Given the description of an element on the screen output the (x, y) to click on. 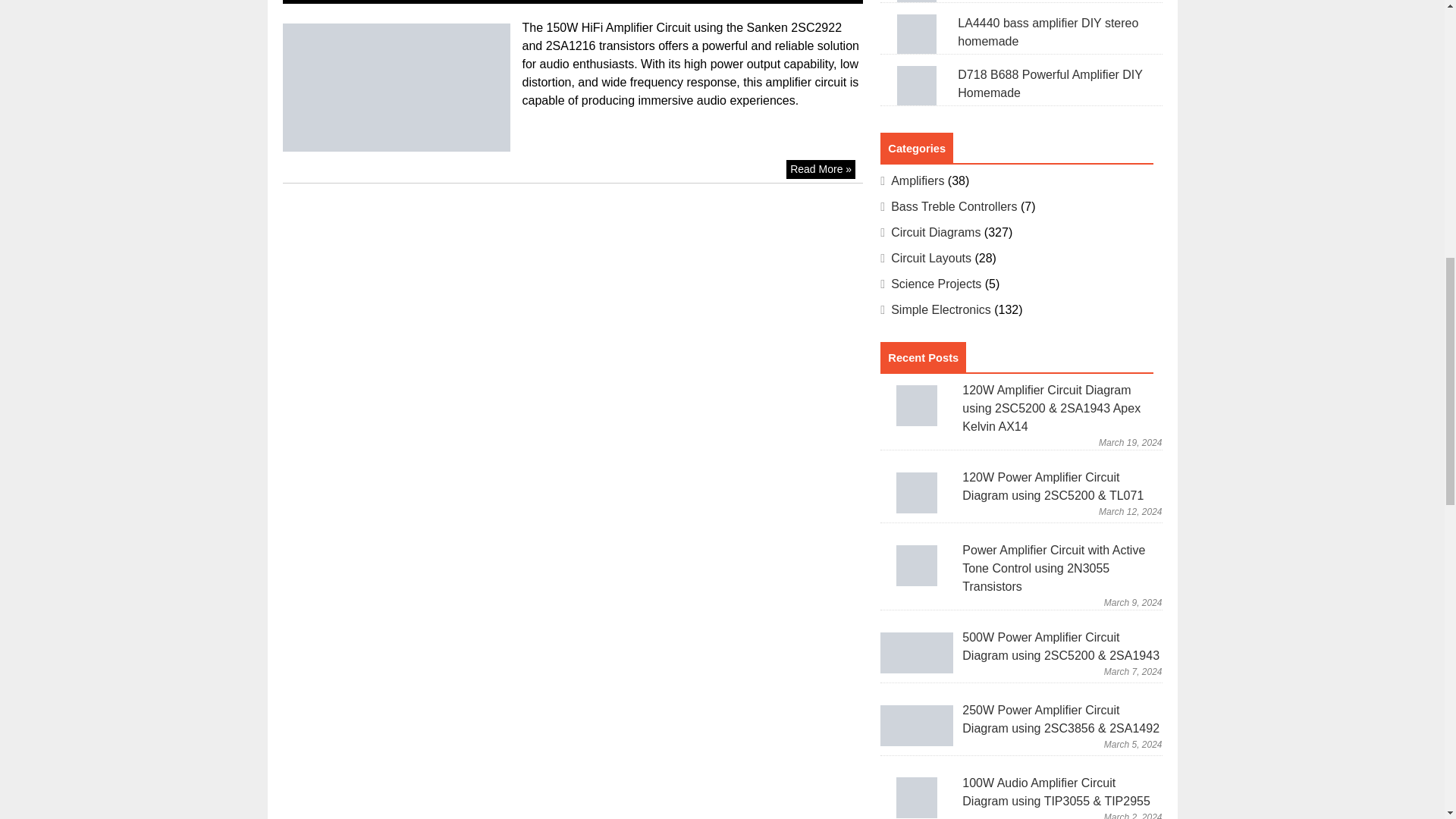
LA4440 bass amplifier DIY stereo homemade (916, 34)
C5200 A1943 Stereo Amplifier DIY Homemade (916, 1)
D718 B688 Powerful Amplifier DIY Homemade (916, 85)
